Given the description of an element on the screen output the (x, y) to click on. 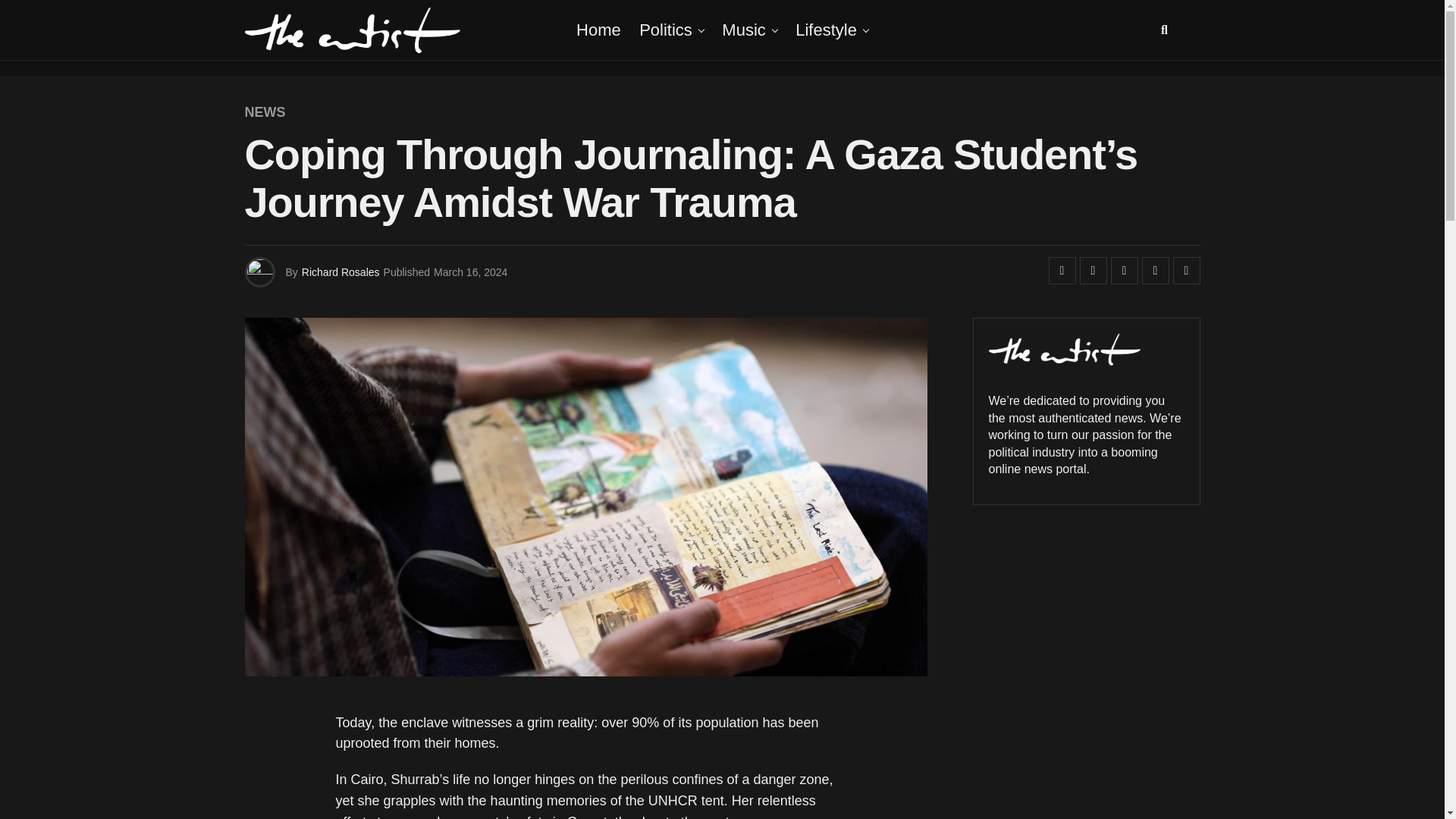
Tweet This Post (1093, 270)
Posts by Richard Rosales (340, 272)
Share on Facebook (1061, 270)
Politics (665, 30)
Music (743, 30)
Lifestyle (825, 30)
Home (598, 30)
